Given the description of an element on the screen output the (x, y) to click on. 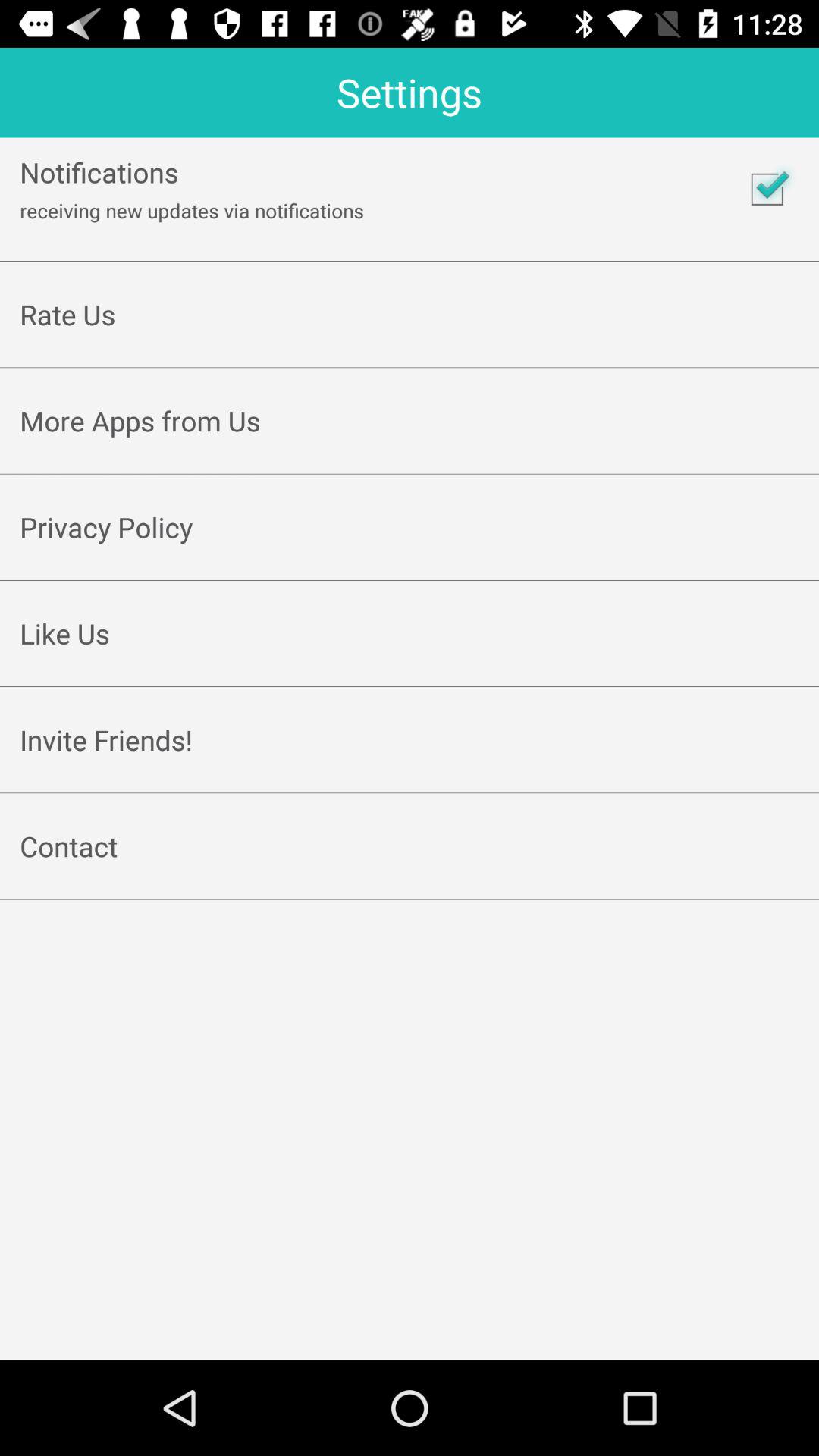
press item below the like us icon (409, 669)
